Given the description of an element on the screen output the (x, y) to click on. 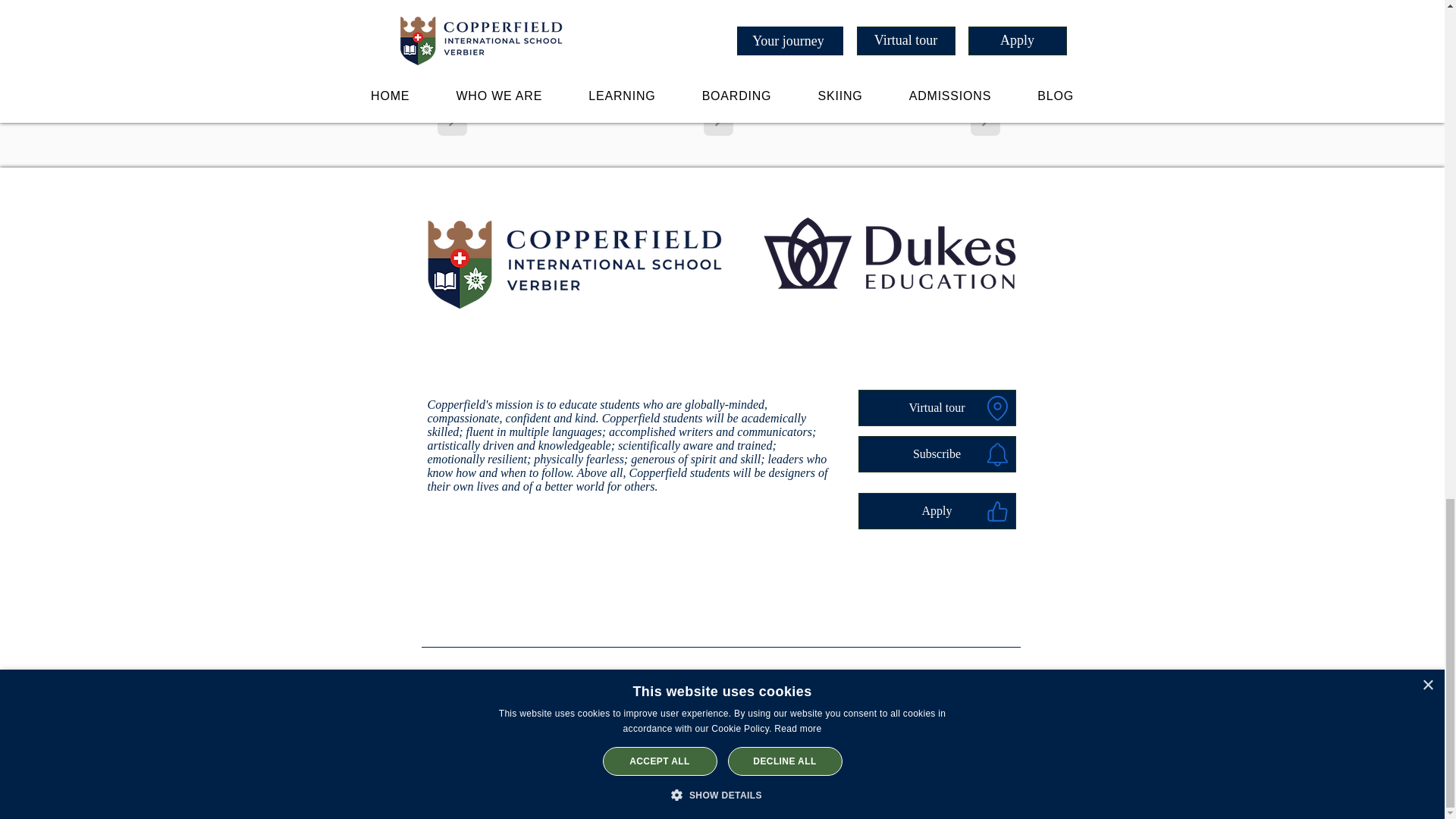
Apply (937, 511)
Virtual tour (937, 407)
Subscribe (937, 453)
